Given the description of an element on the screen output the (x, y) to click on. 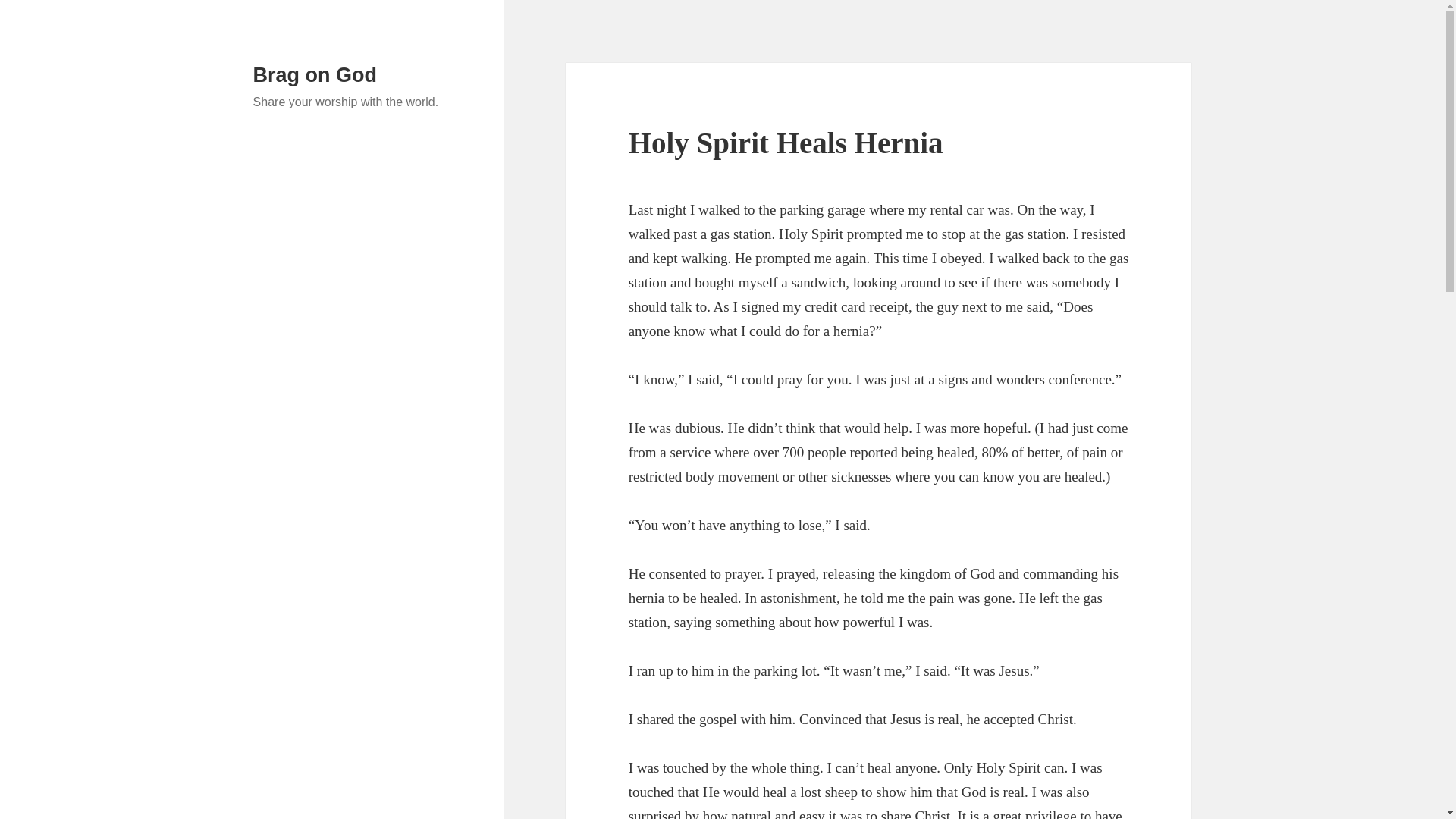
Brag on God (315, 74)
